Given the description of an element on the screen output the (x, y) to click on. 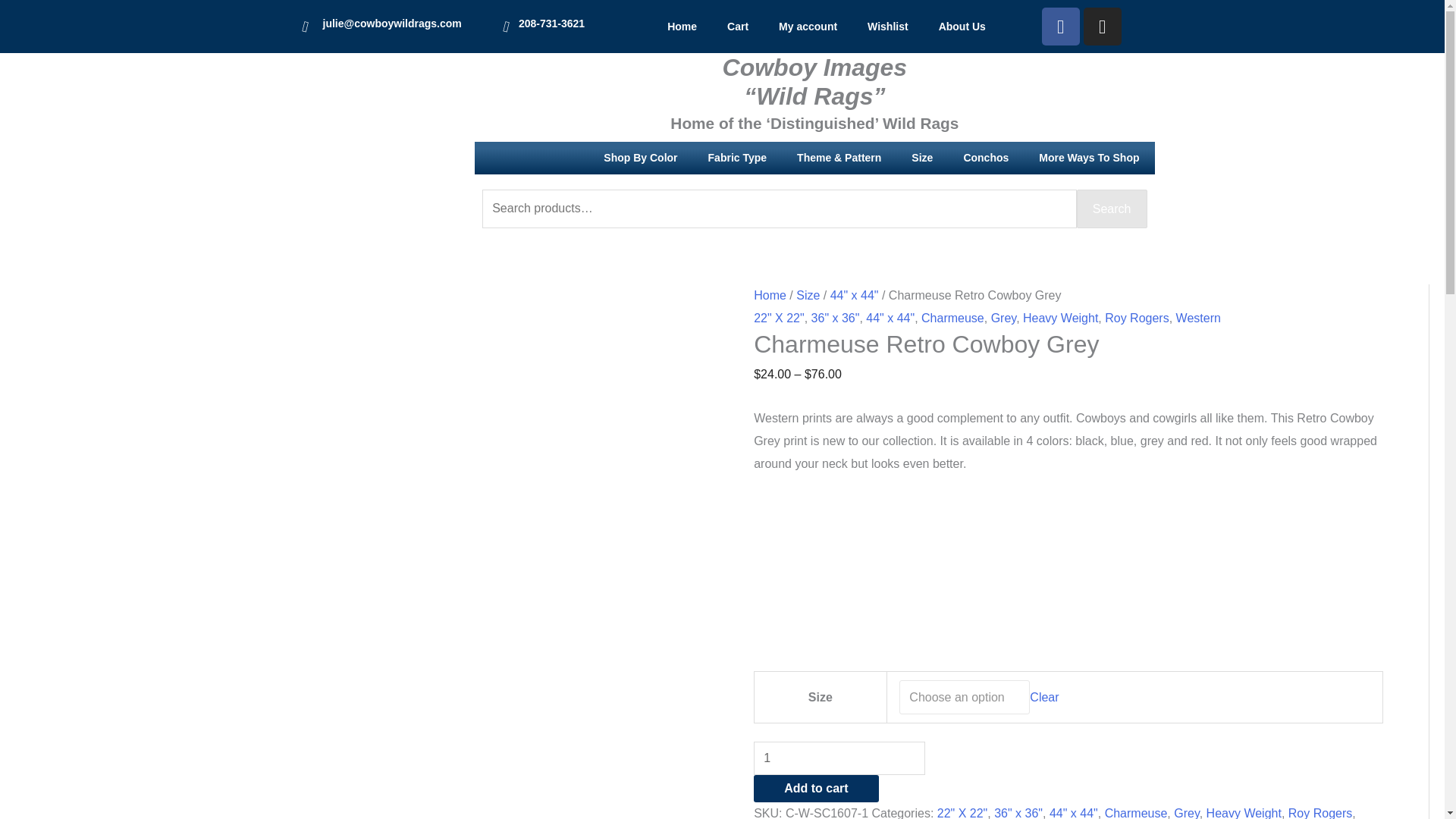
Instagram (1102, 26)
Shop By Color (640, 157)
Facebook (1061, 26)
My account (806, 26)
1 (839, 758)
Home (681, 26)
About Us (962, 26)
Fabric Type (738, 157)
Wishlist (887, 26)
Cart (736, 26)
